Given the description of an element on the screen output the (x, y) to click on. 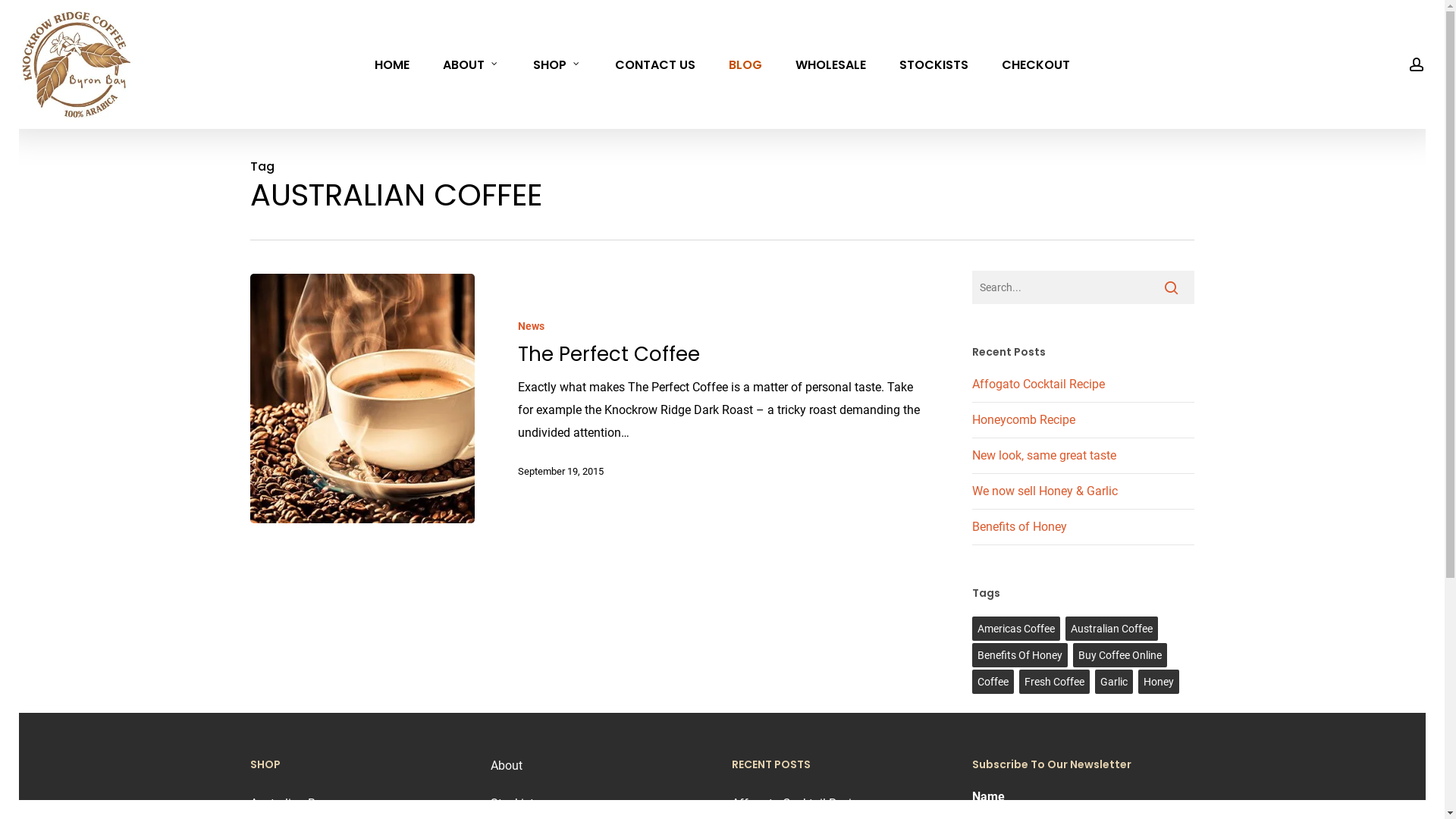
Benefits Of Honey Element type: text (1019, 655)
BLOG Element type: text (745, 63)
Stockists Element type: text (514, 803)
CONTACT US Element type: text (655, 63)
0 Element type: text (1441, 71)
WHOLESALE Element type: text (830, 63)
SHOP Element type: text (557, 63)
Honeycomb Recipe Element type: text (1023, 419)
account Element type: text (1416, 64)
New look, same great taste Element type: text (1044, 455)
Search for: Element type: hover (1083, 287)
Fresh Coffee Element type: text (1054, 681)
Buy Coffee Online Element type: text (1120, 655)
News Element type: text (530, 326)
About Element type: text (506, 765)
Australian Bean Element type: text (292, 803)
Australian Coffee Element type: text (1111, 628)
Honey Element type: text (1158, 681)
ABOUT Element type: text (471, 63)
Garlic Element type: text (1113, 681)
CHECKOUT Element type: text (1035, 63)
Americas Coffee Element type: text (1016, 628)
The Perfect Coffee Element type: text (608, 353)
HOME Element type: text (391, 63)
Benefits of Honey Element type: text (1019, 526)
STOCKISTS Element type: text (933, 63)
We now sell Honey & Garlic Element type: text (1044, 490)
Affogato Cocktail Recipe Element type: text (1038, 383)
Affogato Cocktail Recipe Element type: text (797, 803)
Coffee Element type: text (992, 681)
